Given the description of an element on the screen output the (x, y) to click on. 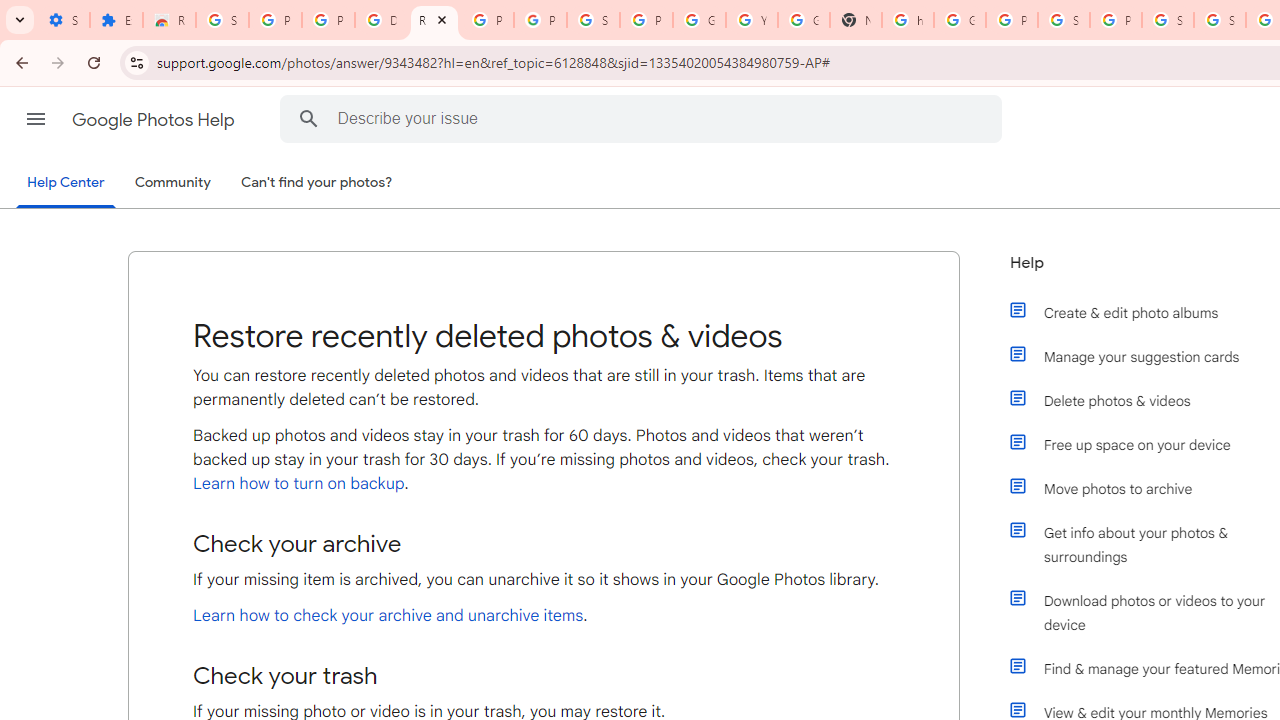
YouTube (751, 20)
Search Help Center (309, 118)
Sign in - Google Accounts (1219, 20)
Google Account (699, 20)
Describe your issue (644, 118)
Sign in - Google Accounts (222, 20)
Learn how to turn on backup (298, 483)
